Given the description of an element on the screen output the (x, y) to click on. 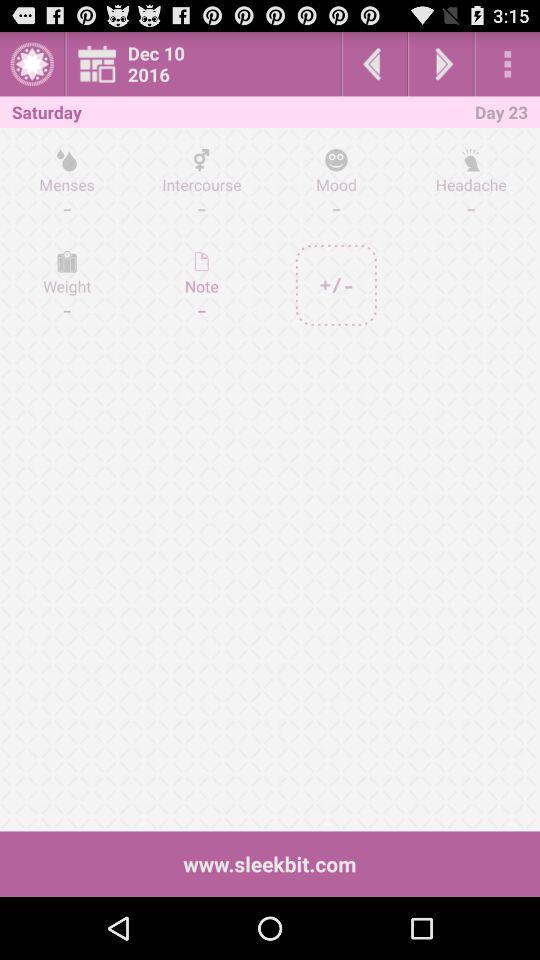
click on intercourse which is next to menses (201, 183)
click the button intercourse on the web page (201, 183)
click on the icon on the right side of weight (201, 285)
select the text right to round star mark at the top of the page (208, 63)
click on  (335, 285)
select the 3 dot more button (507, 63)
click on headache right next to mood (469, 183)
